Given the description of an element on the screen output the (x, y) to click on. 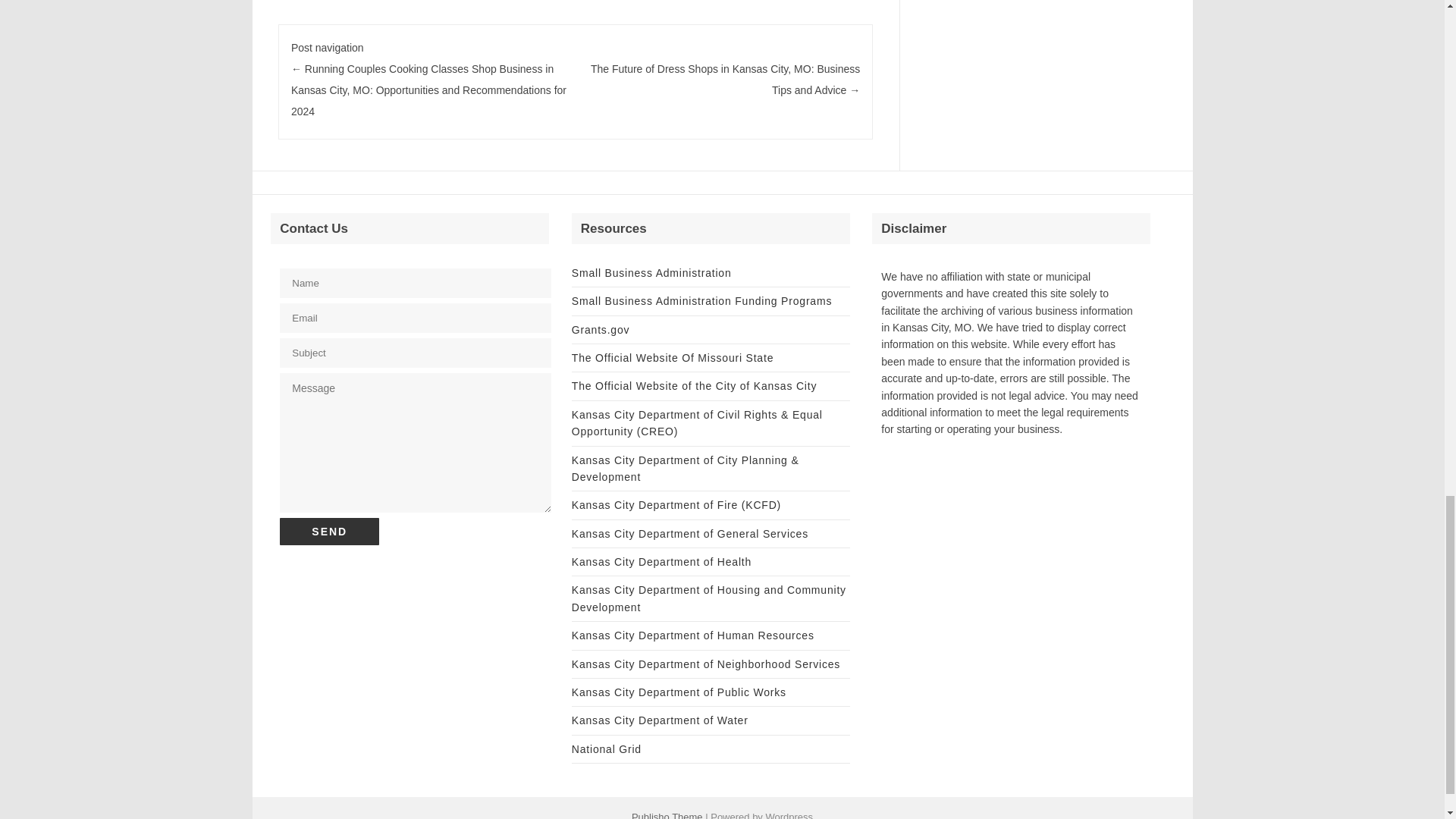
Kansas City Department of General Services (690, 533)
National Grid (607, 748)
Small Business Administration Funding Programs (701, 300)
Kansas City Department of Human Resources (692, 635)
Send (328, 531)
Kansas City Department of Housing and Community Development (708, 597)
Kansas City Department of Public Works (679, 692)
Send (328, 531)
The Official Website of the City of Kansas City (694, 386)
Small Business Administration (652, 272)
